Given the description of an element on the screen output the (x, y) to click on. 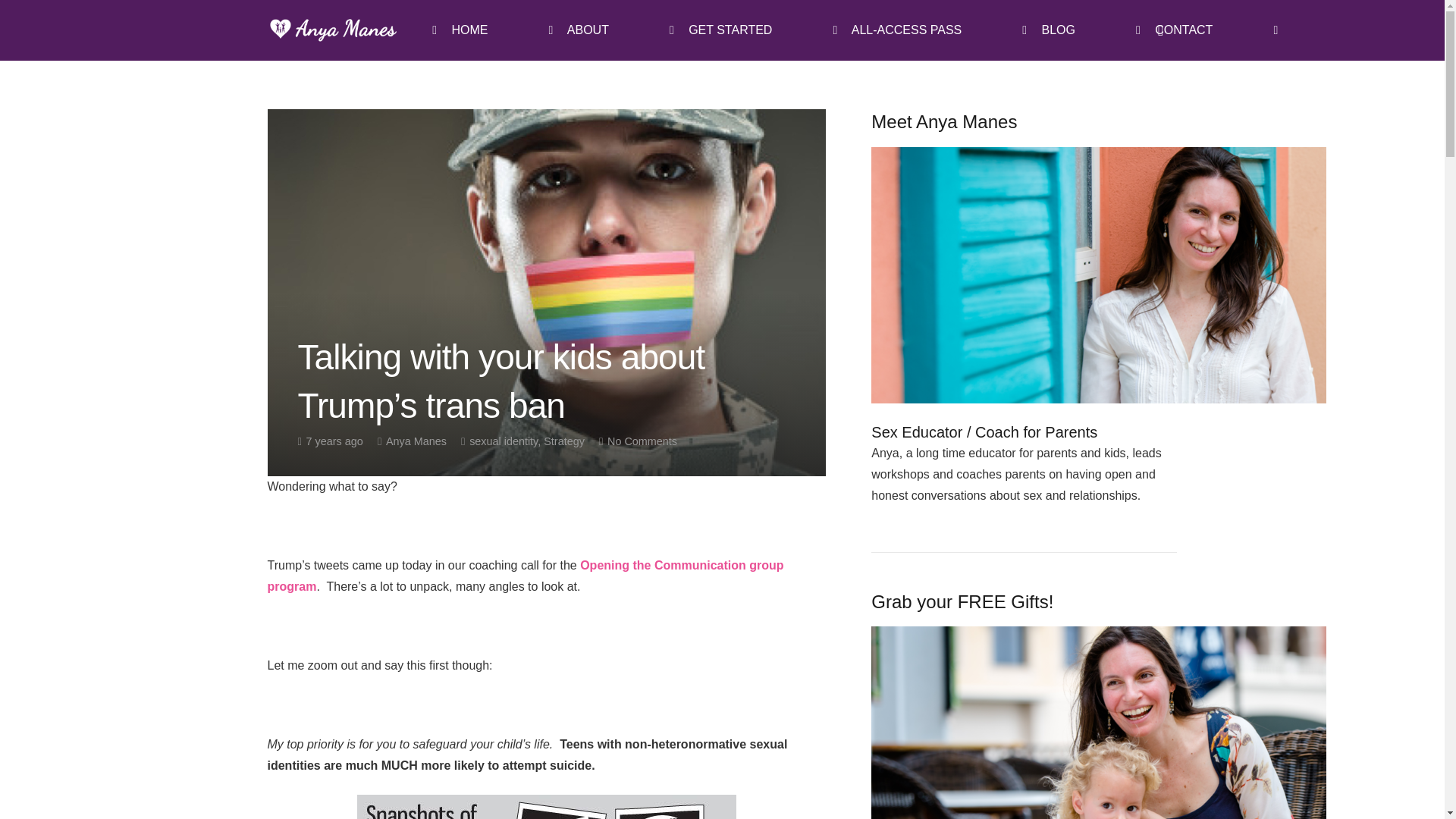
HOME (459, 30)
Strategy (564, 440)
No Comments (642, 440)
BLOG (1048, 30)
sexual identity (502, 440)
No Comments (642, 440)
Anya Manes (415, 441)
ALL-ACCESS PASS (896, 30)
GET STARTED (720, 30)
Opening the Communication group program (524, 574)
CONTACT (1174, 30)
ABOUT (578, 30)
